Given the description of an element on the screen output the (x, y) to click on. 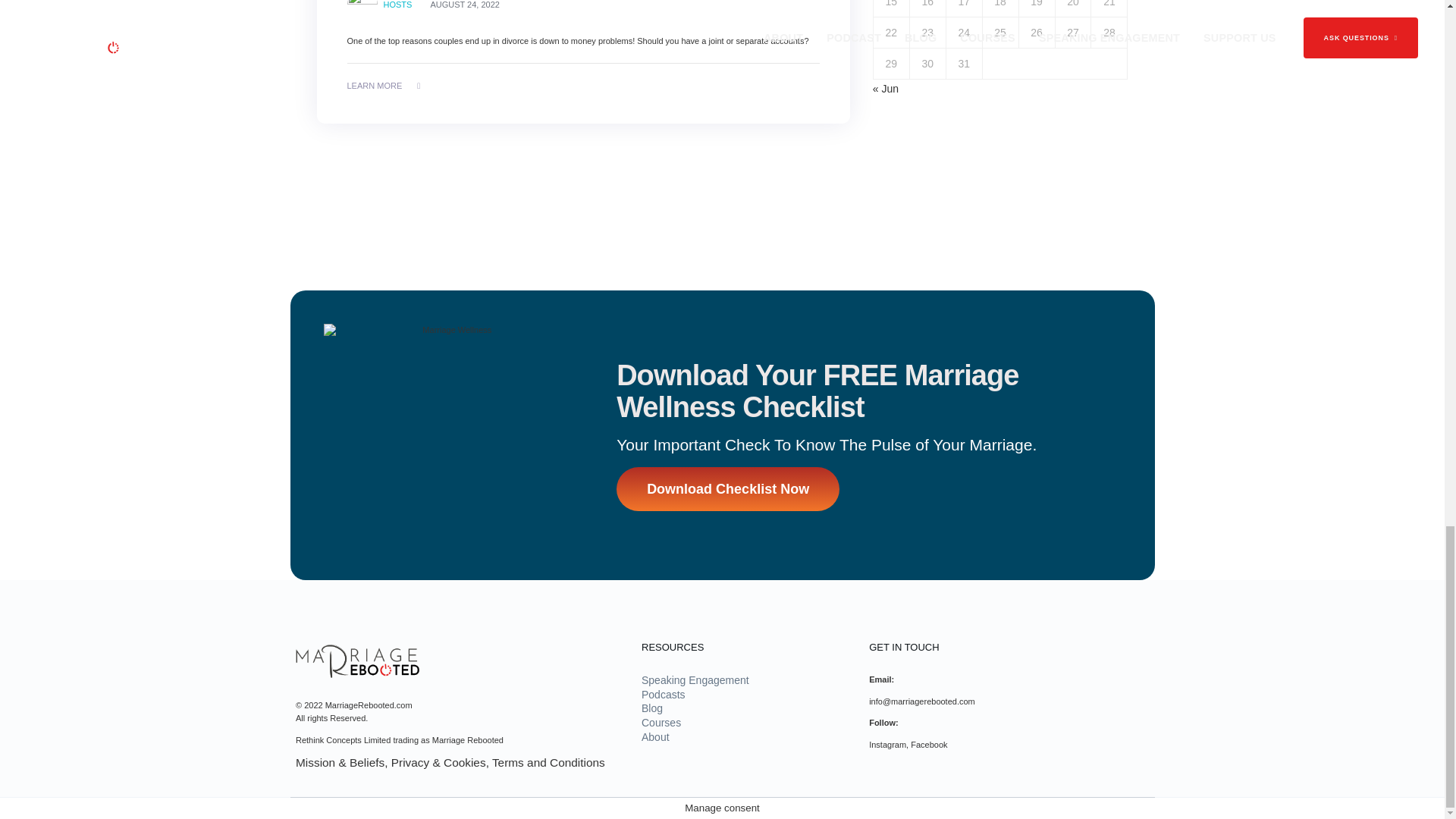
HOSTS (398, 6)
LEARN MORE (383, 86)
